Given the description of an element on the screen output the (x, y) to click on. 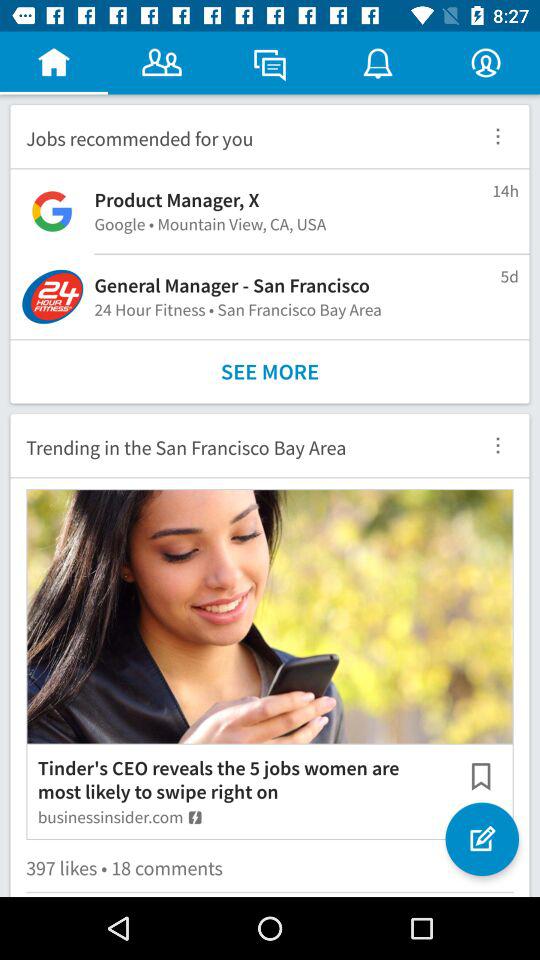
scroll to jobs recommended for item (238, 136)
